Given the description of an element on the screen output the (x, y) to click on. 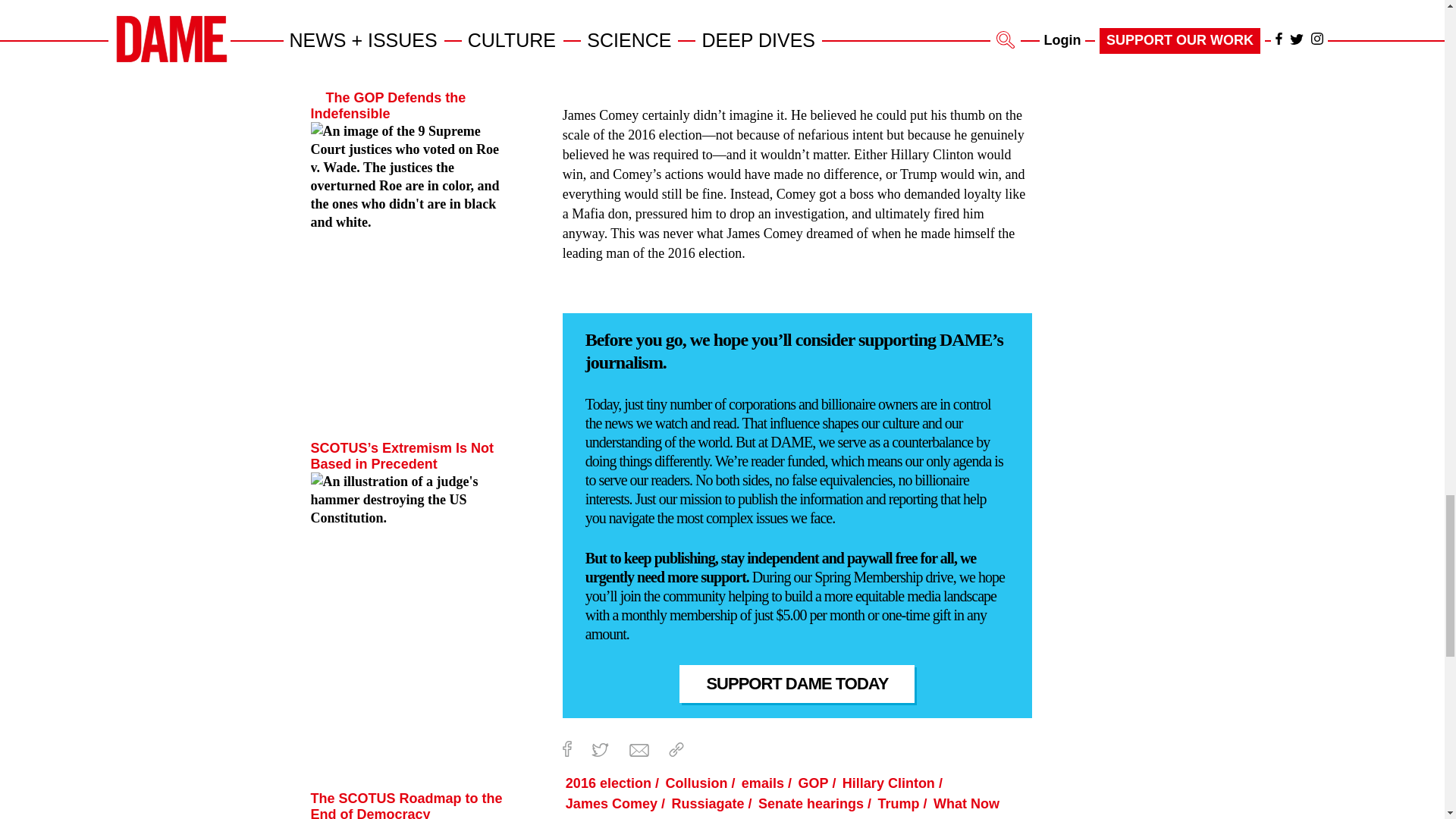
Twitter (599, 749)
Share (676, 749)
Email (638, 749)
